Given the description of an element on the screen output the (x, y) to click on. 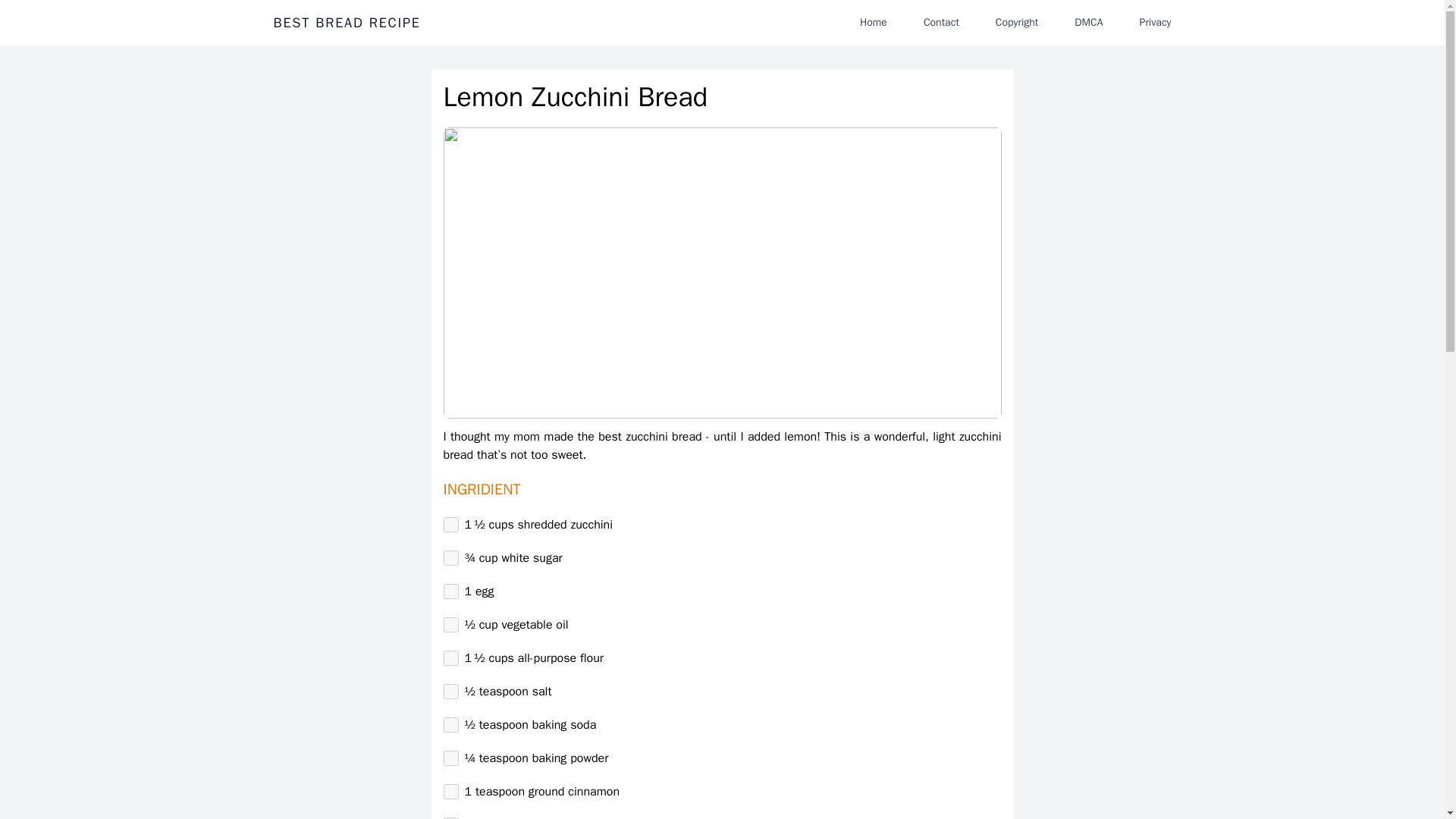
on (450, 590)
on (450, 657)
on (450, 724)
on (450, 524)
on (450, 791)
Privacy (1154, 22)
on (450, 557)
on (450, 624)
Copyright (1016, 22)
